Given the description of an element on the screen output the (x, y) to click on. 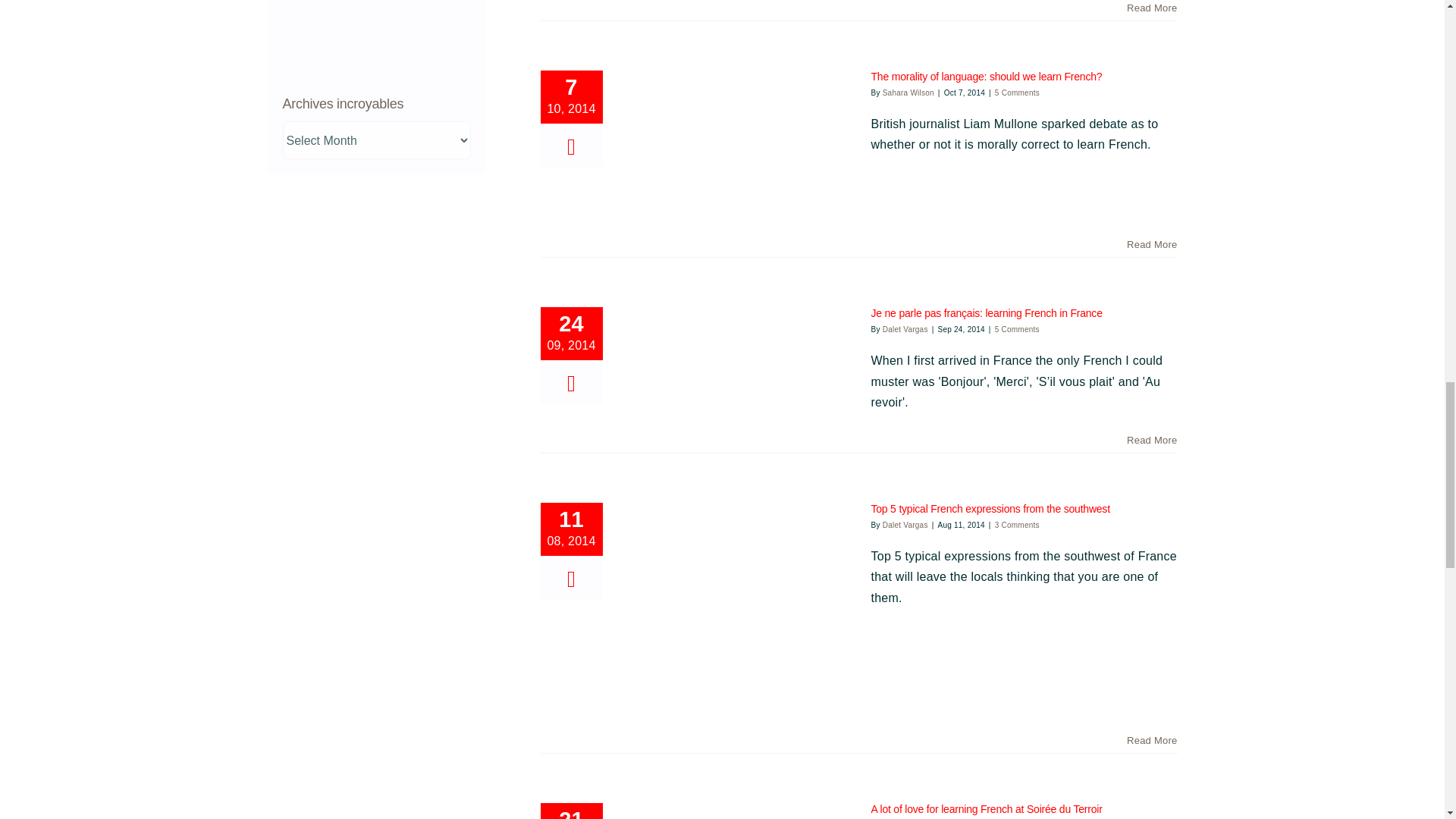
Posts by Dalet Vargas (905, 524)
Posts by Sahara Wilson (908, 92)
Posts by Dalet Vargas (905, 329)
